Given the description of an element on the screen output the (x, y) to click on. 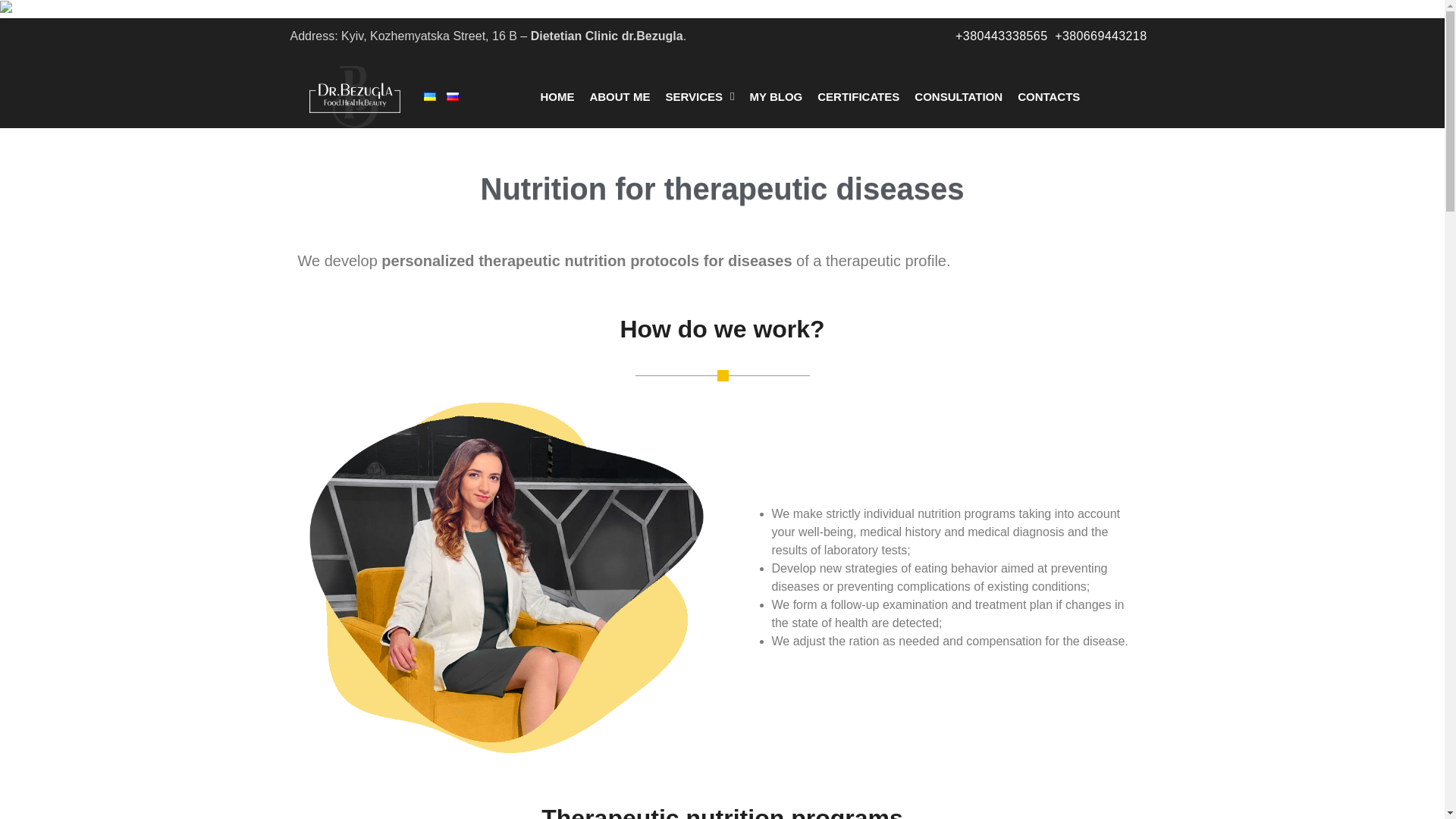
HOME (556, 96)
CERTIFICATES (857, 96)
SERVICES (699, 96)
MY BLOG (775, 96)
CONTACTS (1048, 96)
CONSULTATION (958, 96)
ABOUT ME (619, 96)
